Given the description of an element on the screen output the (x, y) to click on. 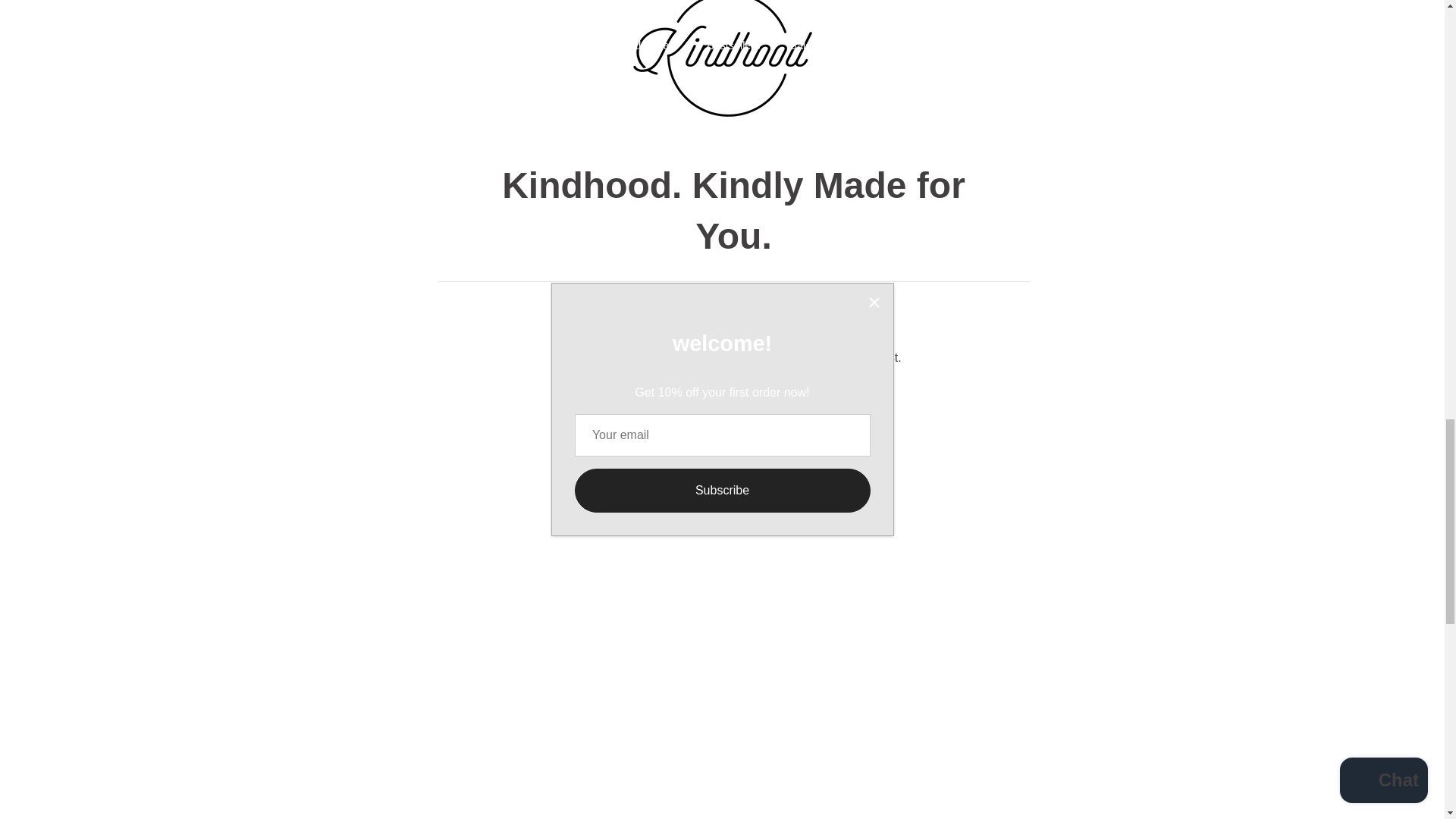
Kindhood Instagram (670, 393)
Kindhood Pinterest (778, 393)
Kindhood Facebook (724, 393)
